Given the description of an element on the screen output the (x, y) to click on. 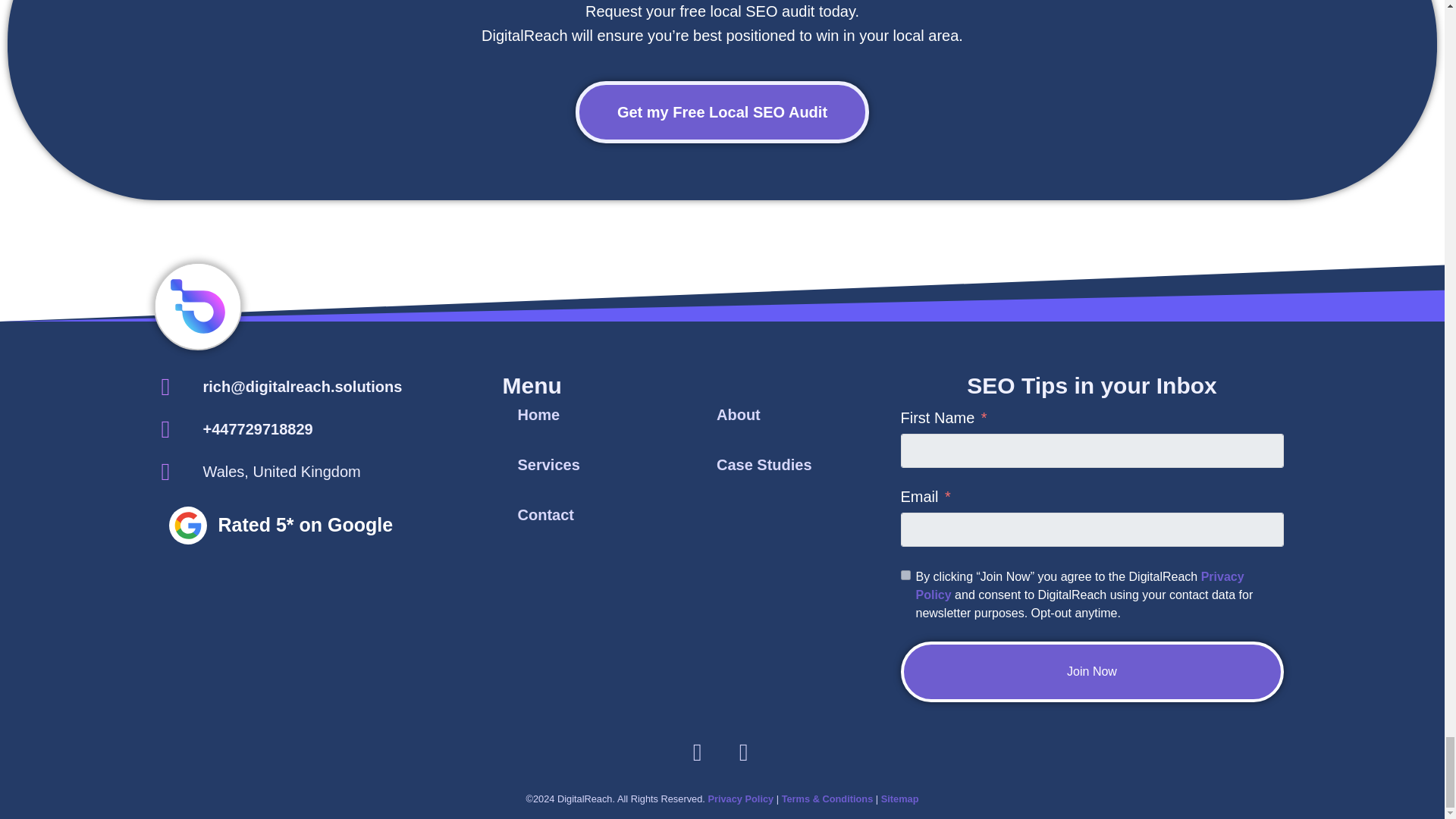
on (906, 574)
Click to view the Privacy Policy. (740, 798)
Click to view the Sitemap. (899, 798)
